Given the description of an element on the screen output the (x, y) to click on. 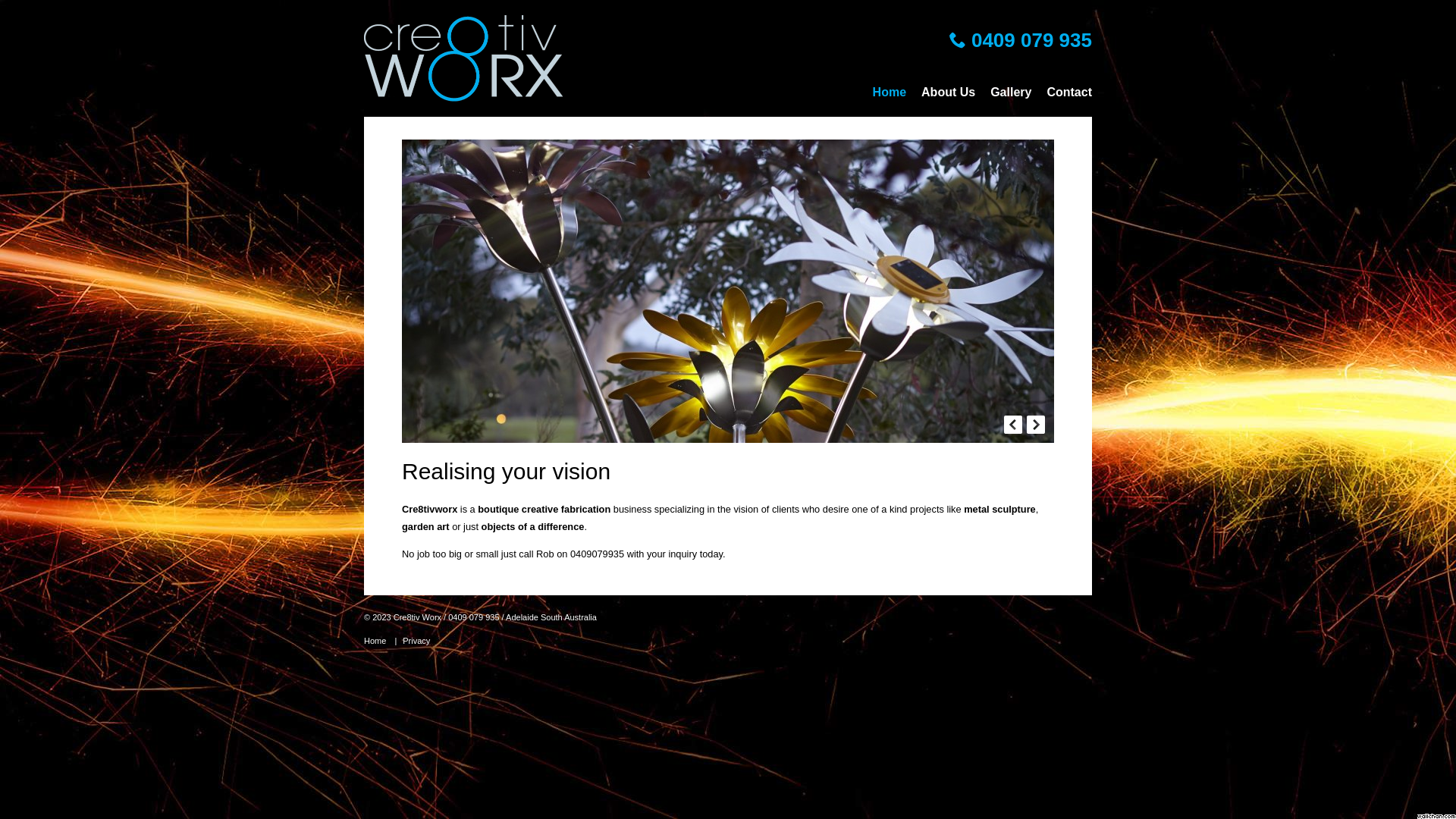
Home Element type: text (374, 641)
Contact Element type: text (1069, 92)
0409 079 935 Element type: text (1020, 40)
About Us Element type: text (948, 92)
Home Element type: text (889, 92)
Privacy Element type: text (415, 641)
Gallery Element type: text (1010, 92)
